Given the description of an element on the screen output the (x, y) to click on. 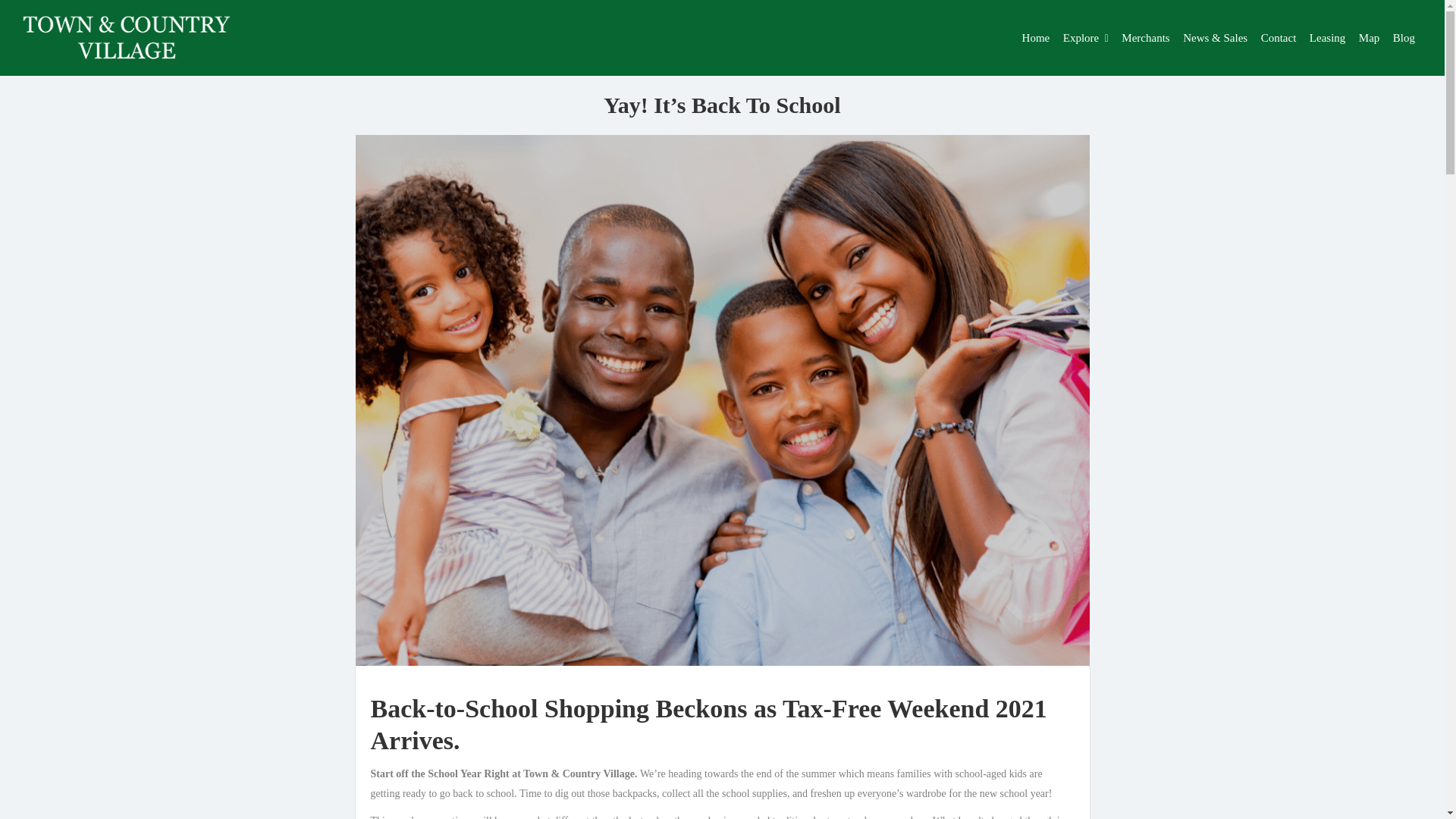
Blog (1404, 37)
Contact (1278, 37)
Leasing (1326, 37)
Map (1369, 37)
Home (1035, 37)
Explore (1080, 37)
Merchants (1145, 37)
